Given the description of an element on the screen output the (x, y) to click on. 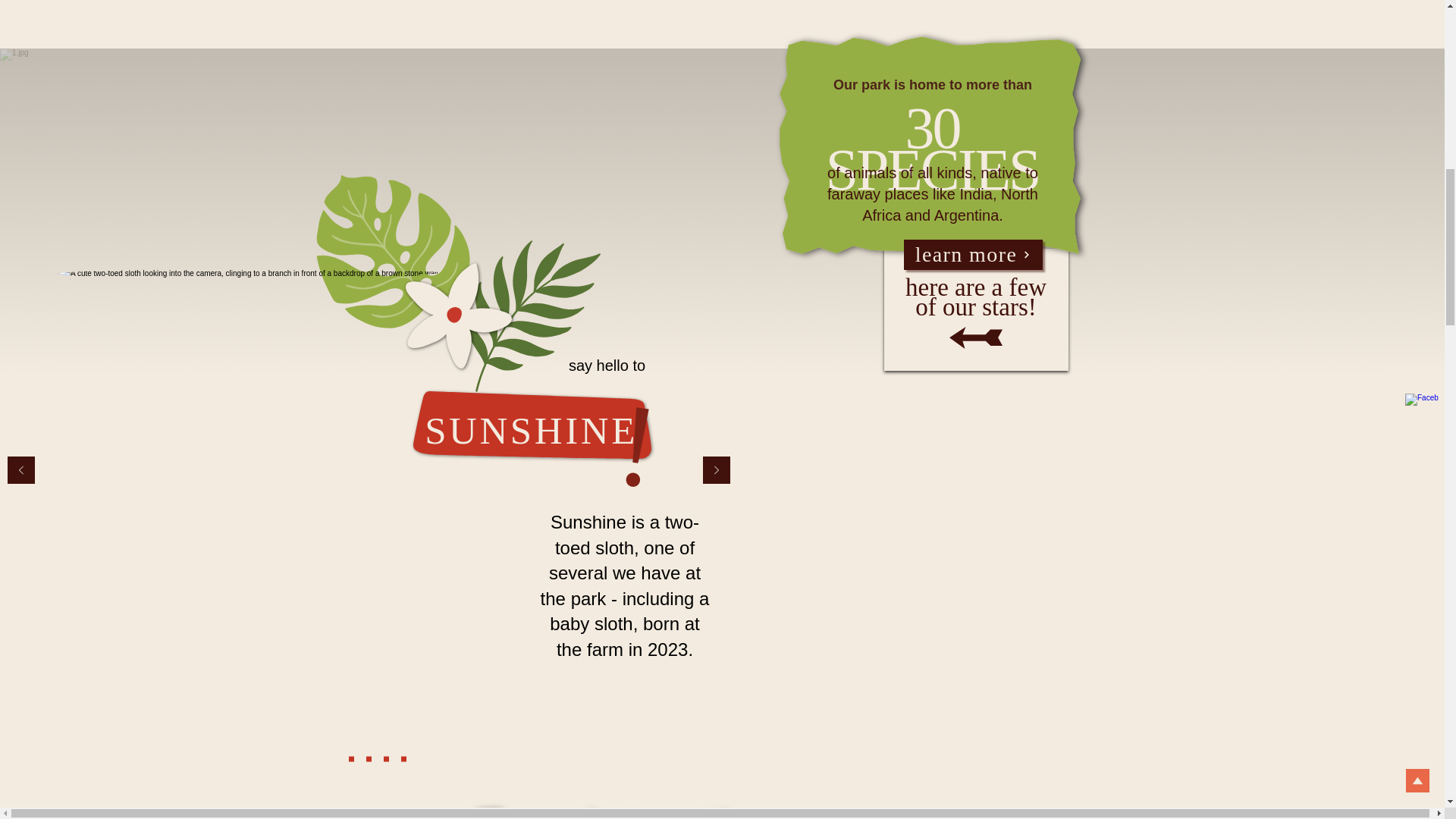
learn more (973, 254)
